Given the description of an element on the screen output the (x, y) to click on. 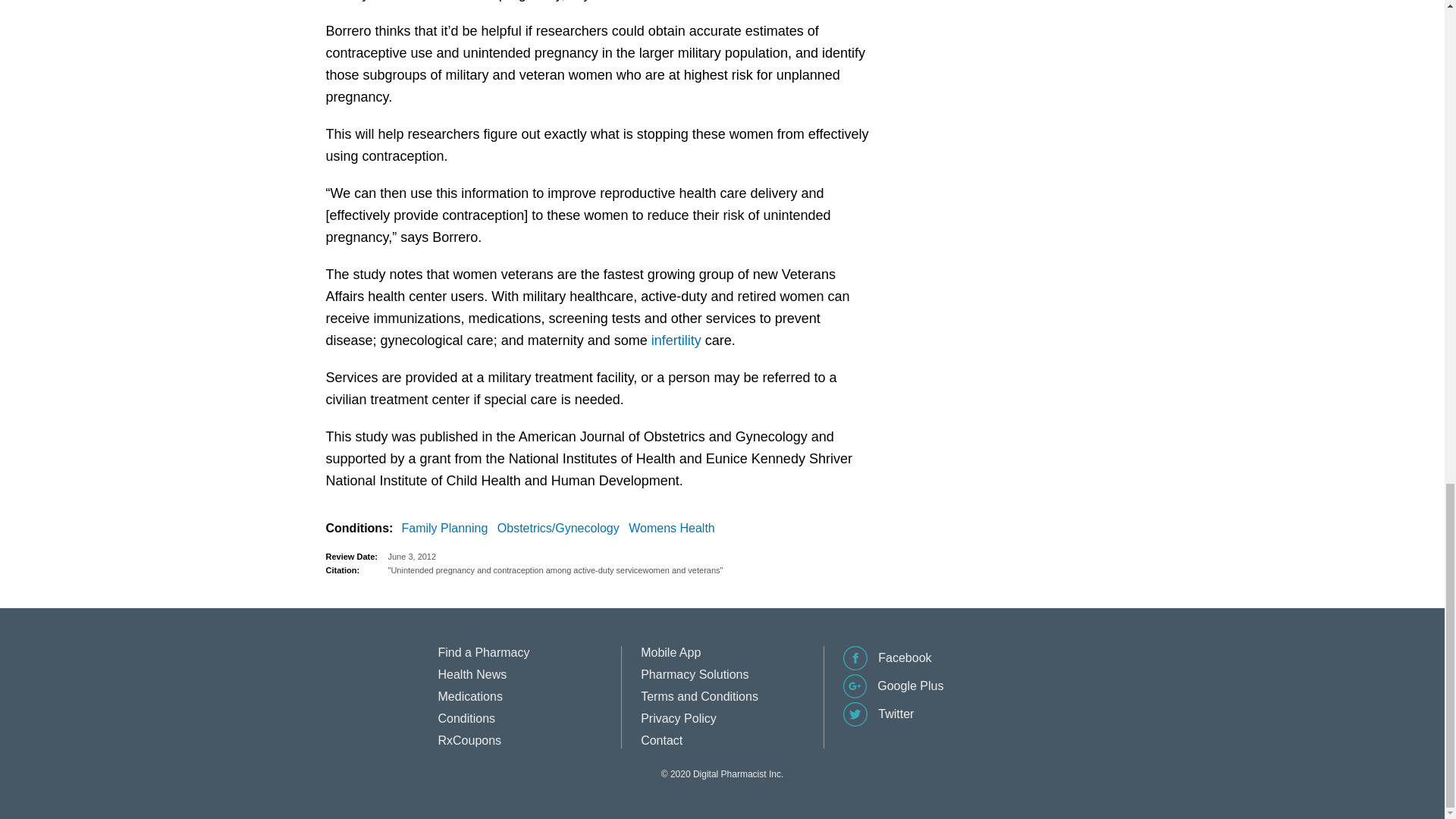
Womens Health (674, 528)
infertility (675, 340)
Family Planning (448, 528)
